Given the description of an element on the screen output the (x, y) to click on. 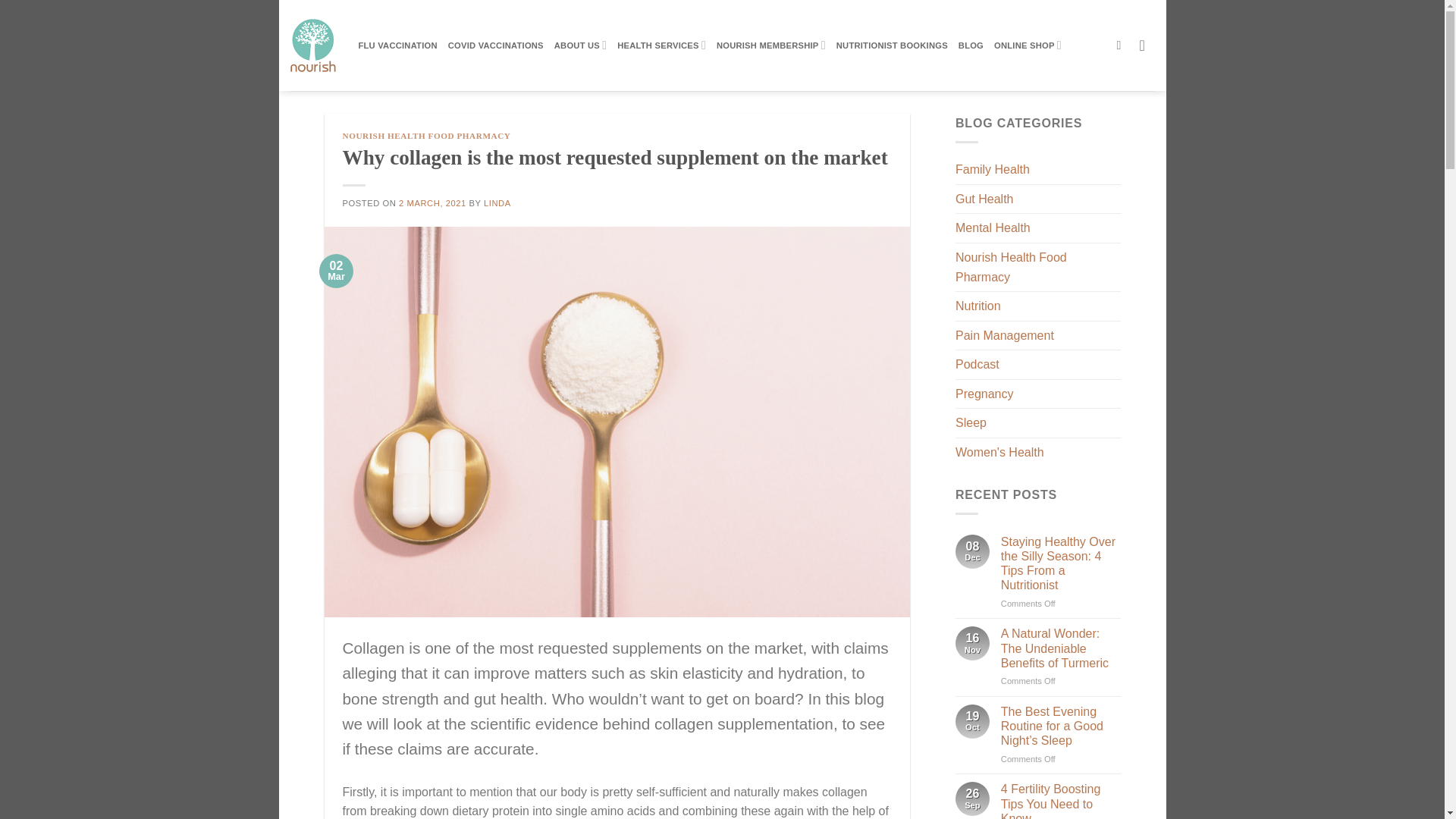
COVID VACCINATIONS (495, 44)
HEALTH SERVICES (661, 44)
FLU VACCINATION (397, 44)
ABOUT US (580, 44)
NOURISH MEMBERSHIP (770, 44)
